Given the description of an element on the screen output the (x, y) to click on. 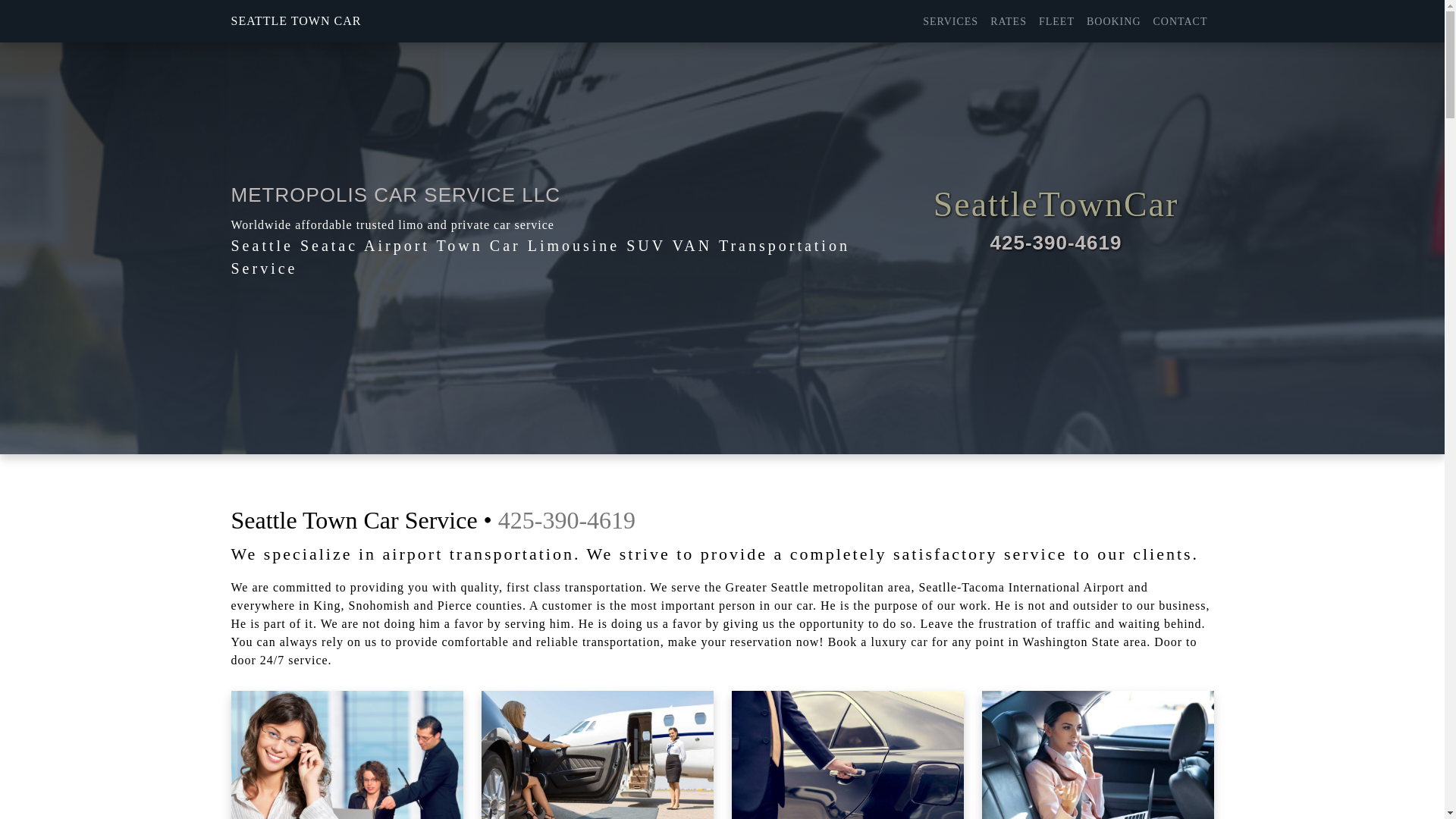
RATES (1008, 21)
425-390-4619 (565, 519)
FLEET (1056, 21)
CONTACT (1179, 21)
425-390-4619 (1055, 242)
BOOKING (1113, 21)
SEATTLE TOWN CAR (295, 20)
SERVICES (950, 21)
